Given the description of an element on the screen output the (x, y) to click on. 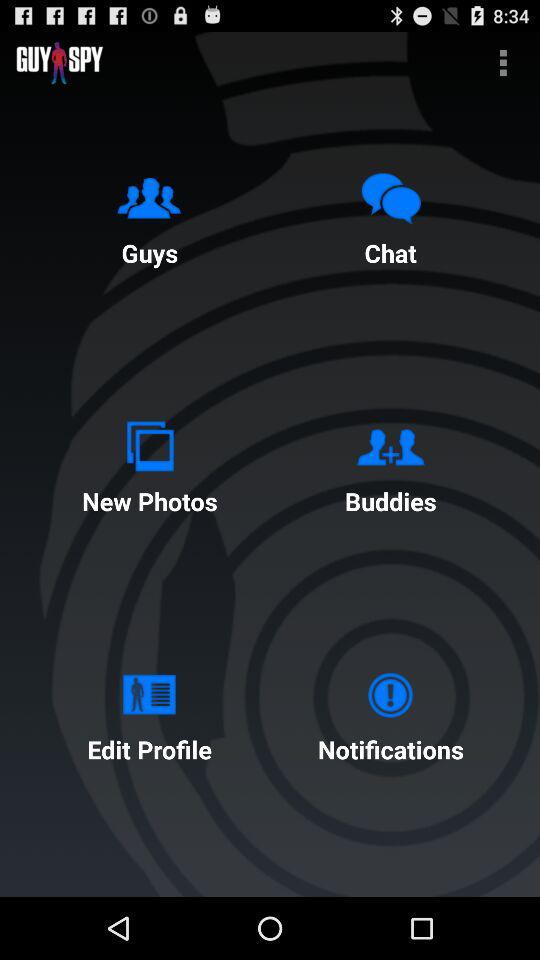
press the item next to the new photos icon (390, 463)
